Given the description of an element on the screen output the (x, y) to click on. 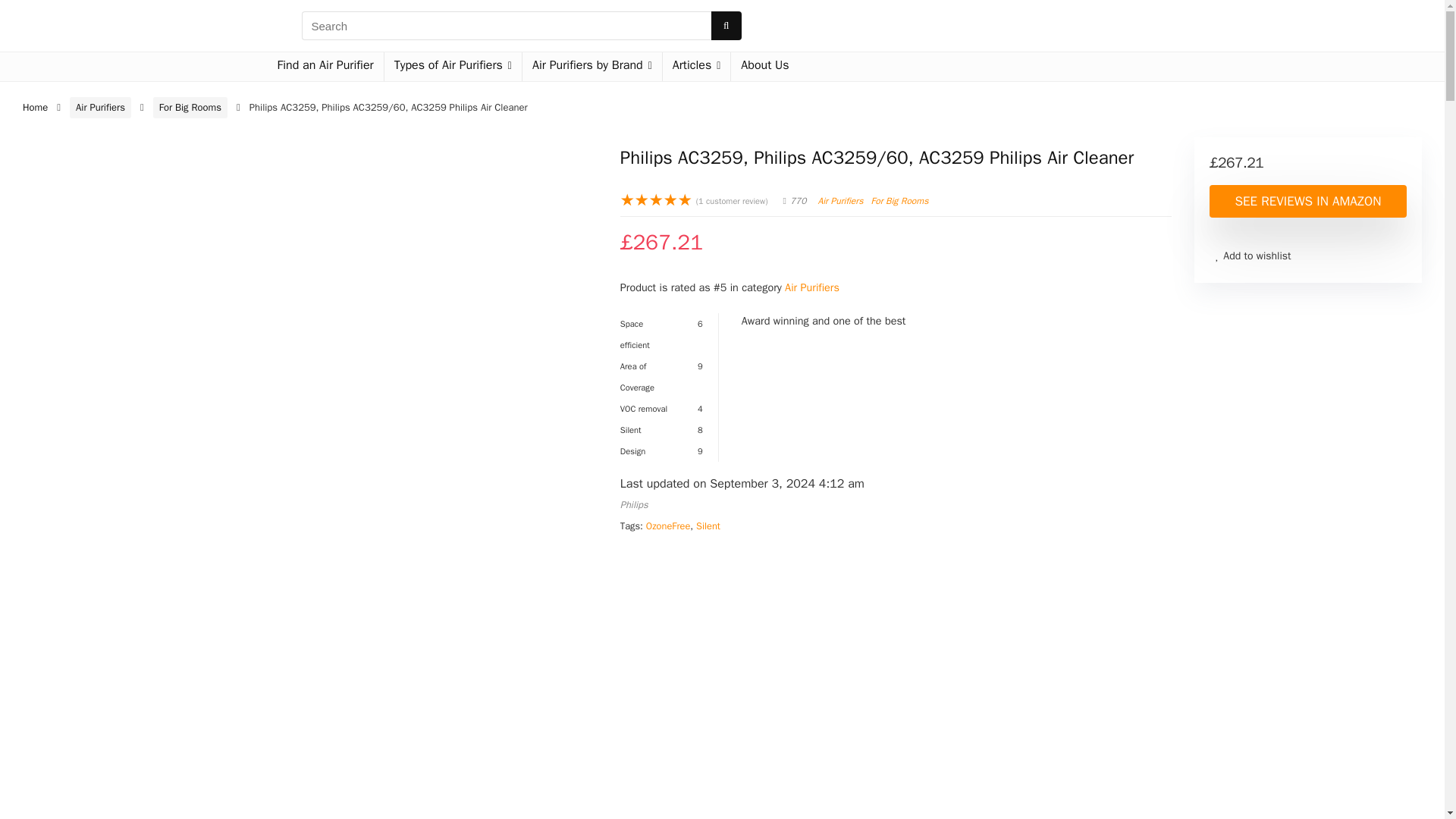
Air Purifiers by Brand (592, 66)
Types of Air Purifiers (452, 66)
Philips (633, 504)
Air Purifiers (839, 200)
Find an Air Purifier (324, 66)
Rated 5 out of 5 (656, 200)
OzoneFree (668, 526)
Home (35, 106)
For Big Rooms (189, 107)
Air Purifiers (812, 287)
